Given the description of an element on the screen output the (x, y) to click on. 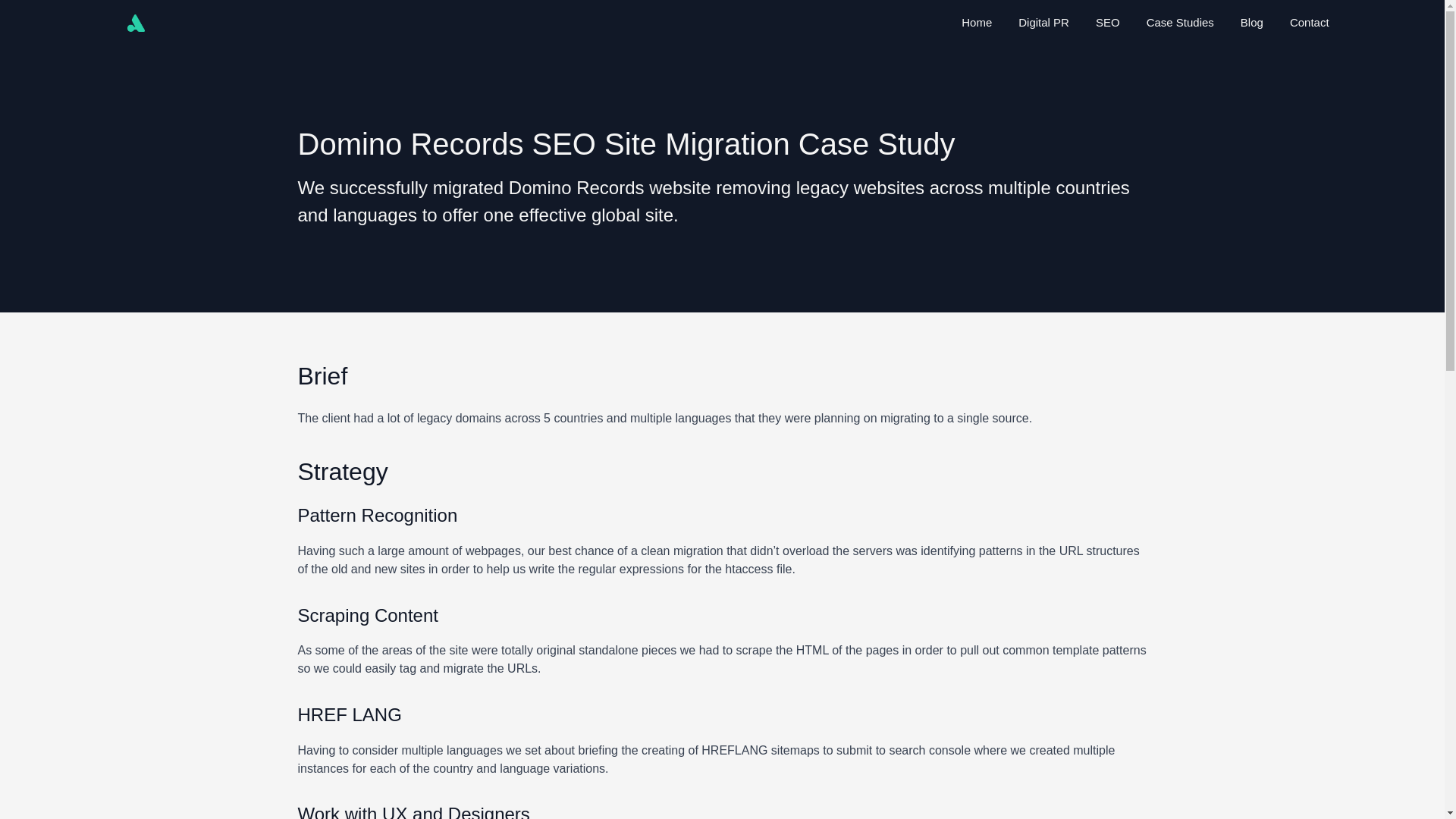
Contact (1309, 22)
Digital PR (1042, 22)
SEO (1107, 22)
Case Studies (1180, 22)
Blog (1251, 22)
Home (975, 22)
